Given the description of an element on the screen output the (x, y) to click on. 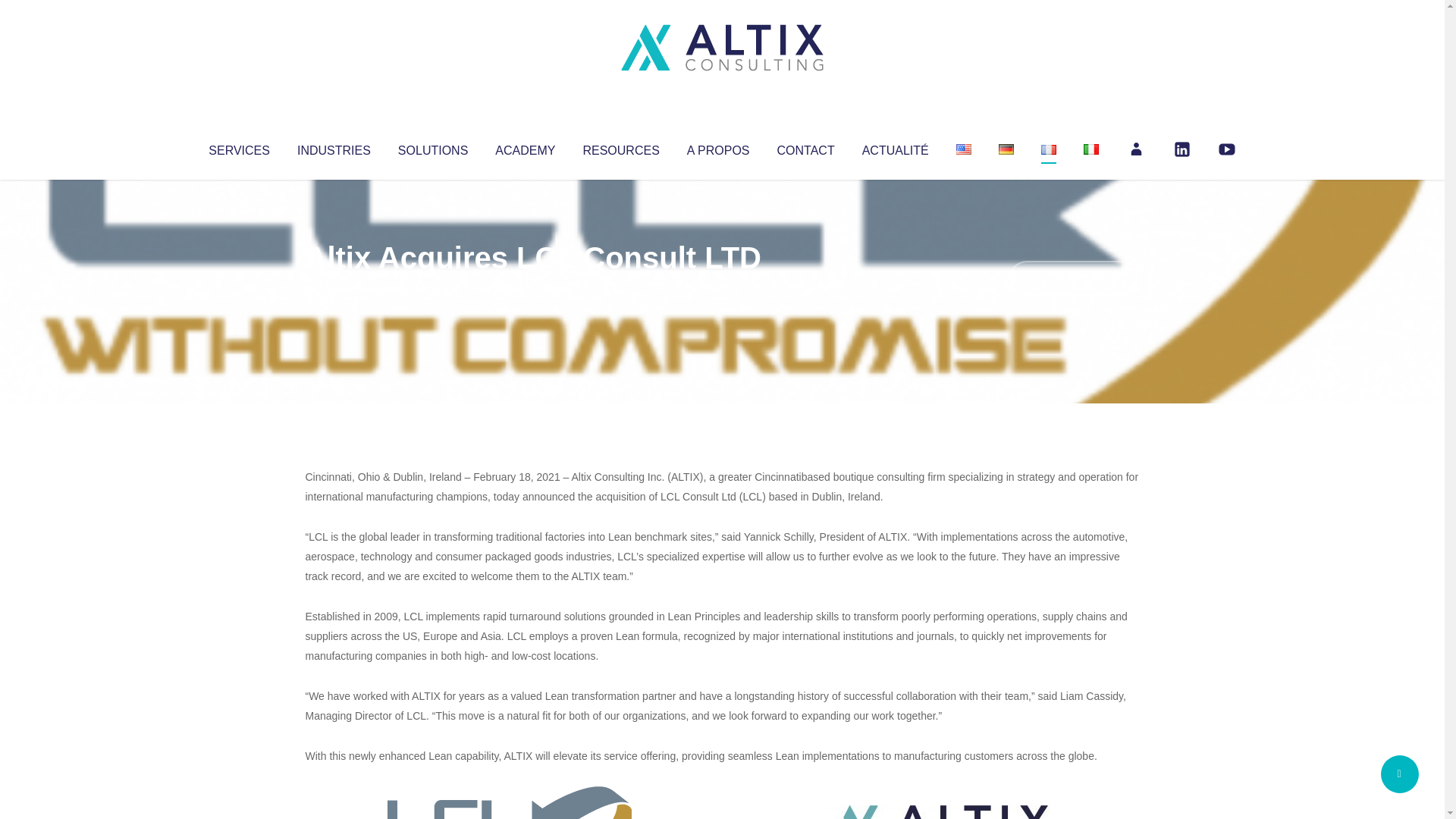
Uncategorized (530, 287)
SOLUTIONS (432, 146)
No Comments (1073, 278)
RESOURCES (620, 146)
Articles par Altix (333, 287)
ACADEMY (524, 146)
A PROPOS (718, 146)
Altix (333, 287)
SERVICES (238, 146)
INDUSTRIES (334, 146)
